Given the description of an element on the screen output the (x, y) to click on. 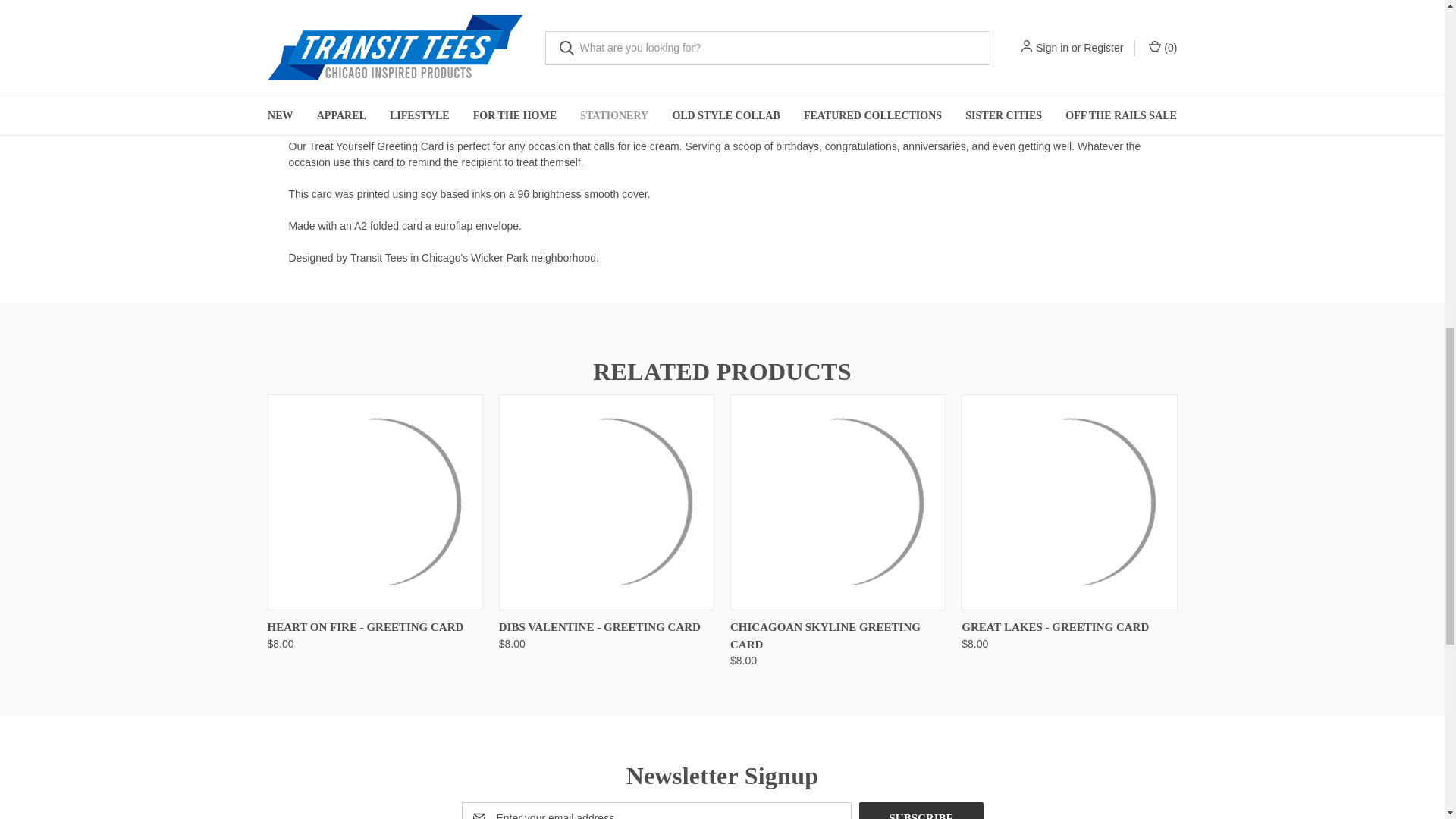
Heart on Fire - Greeting Card (374, 502)
Great Lakes - Greeting Card (1068, 502)
Subscribe (920, 810)
Chicagoan Skyline Greeting Card (837, 502)
Dibs Valentine - Greeting Card (606, 502)
